Given the description of an element on the screen output the (x, y) to click on. 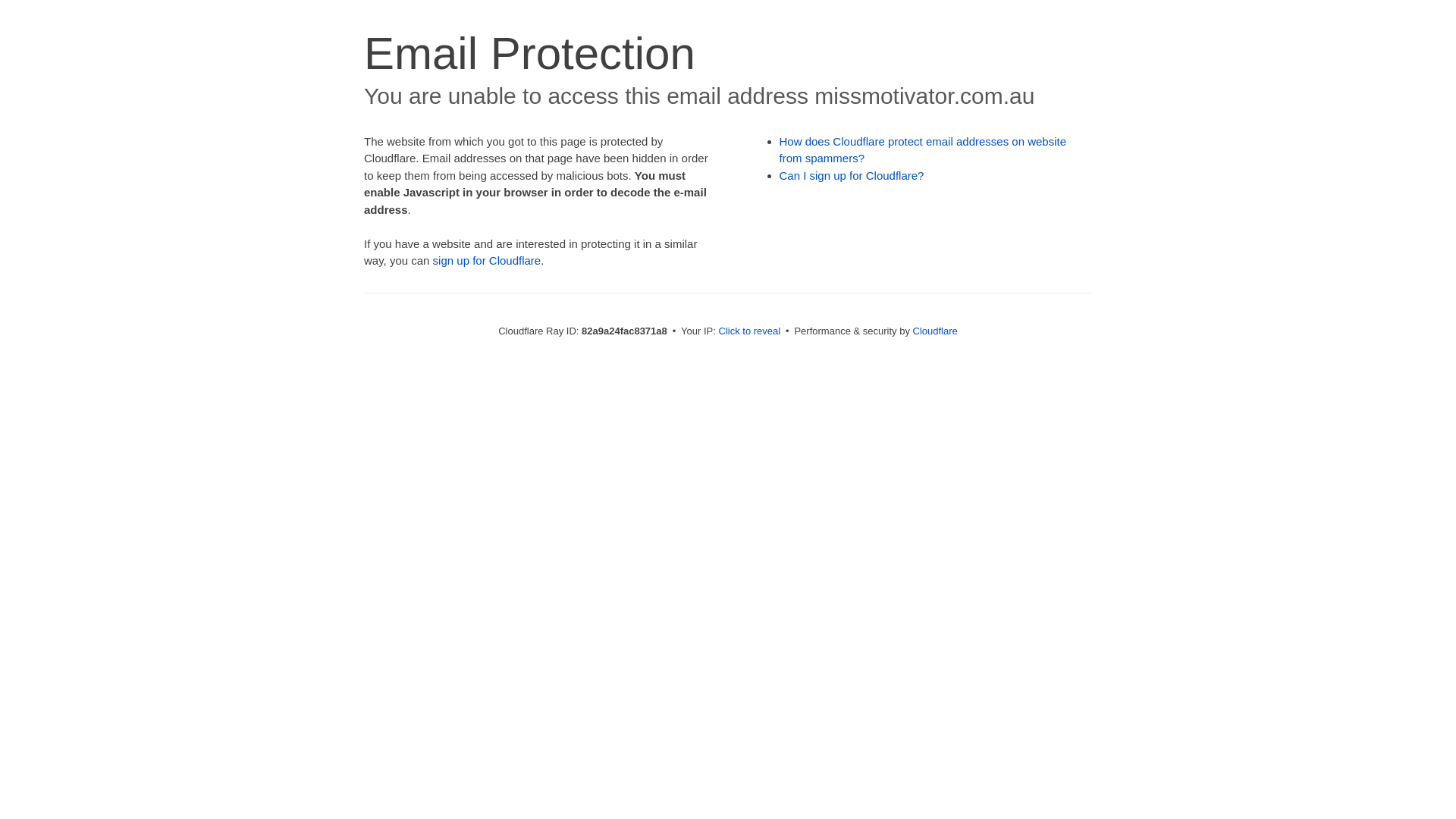
Cloudflare Element type: text (935, 330)
sign up for Cloudflare Element type: text (487, 260)
Can I sign up for Cloudflare? Element type: text (851, 175)
Click to reveal Element type: text (749, 330)
